Given the description of an element on the screen output the (x, y) to click on. 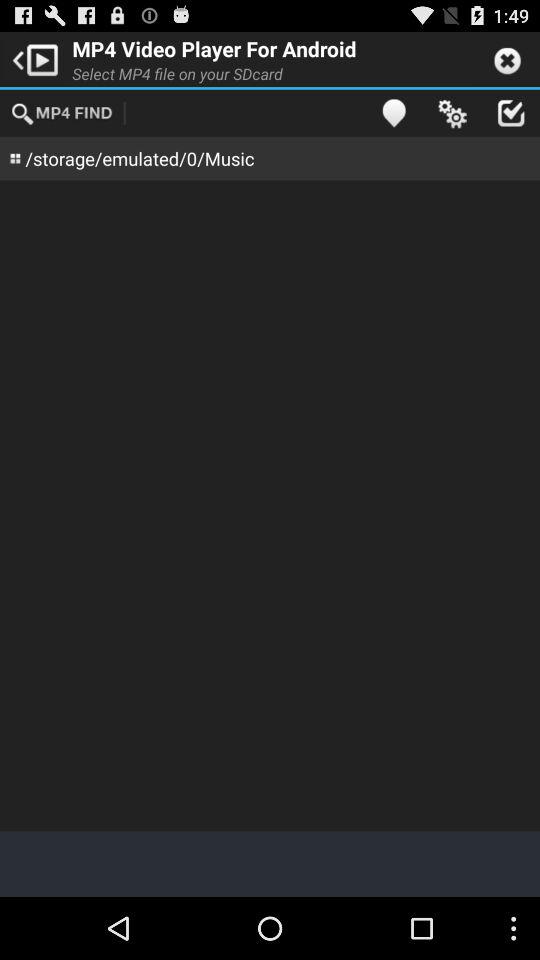
tap item to the left of the mp4 video player item (32, 58)
